Given the description of an element on the screen output the (x, y) to click on. 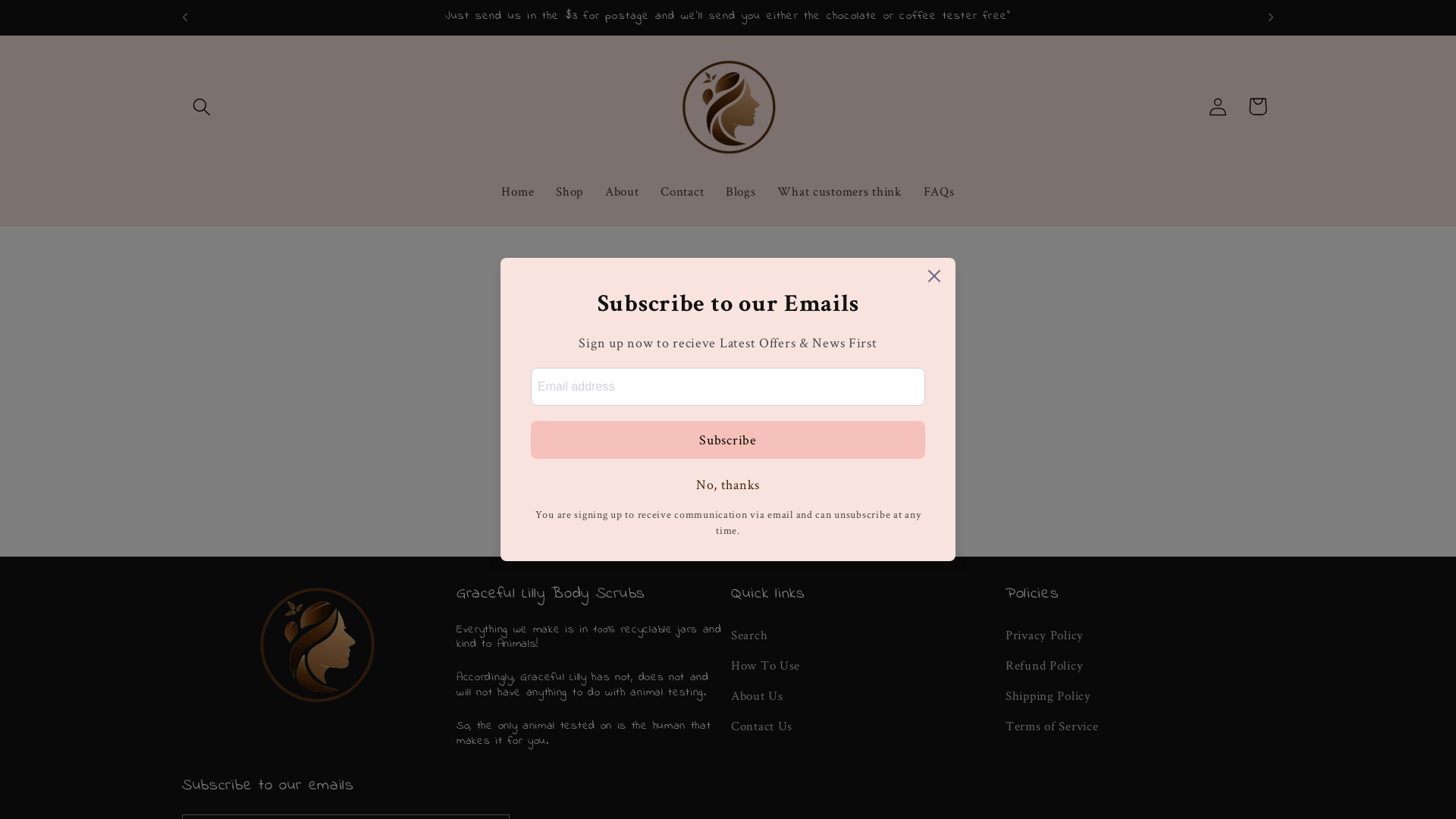
How To Use Element type: text (765, 665)
What customers think Element type: text (839, 191)
Continue shopping Element type: text (727, 471)
Refund Policy Element type: text (1043, 665)
Privacy Policy Element type: text (1044, 637)
Log in Element type: text (1217, 106)
FAQs Element type: text (938, 191)
Shipping Policy Element type: text (1048, 695)
Home Element type: text (517, 191)
Contact Us Element type: text (761, 726)
Blogs Element type: text (740, 191)
About Us Element type: text (757, 695)
Cart Element type: text (1257, 106)
Search Element type: text (749, 637)
About Element type: text (621, 191)
Contact Element type: text (682, 191)
Terms of Service Element type: text (1051, 726)
Shop Element type: text (569, 191)
